Given the description of an element on the screen output the (x, y) to click on. 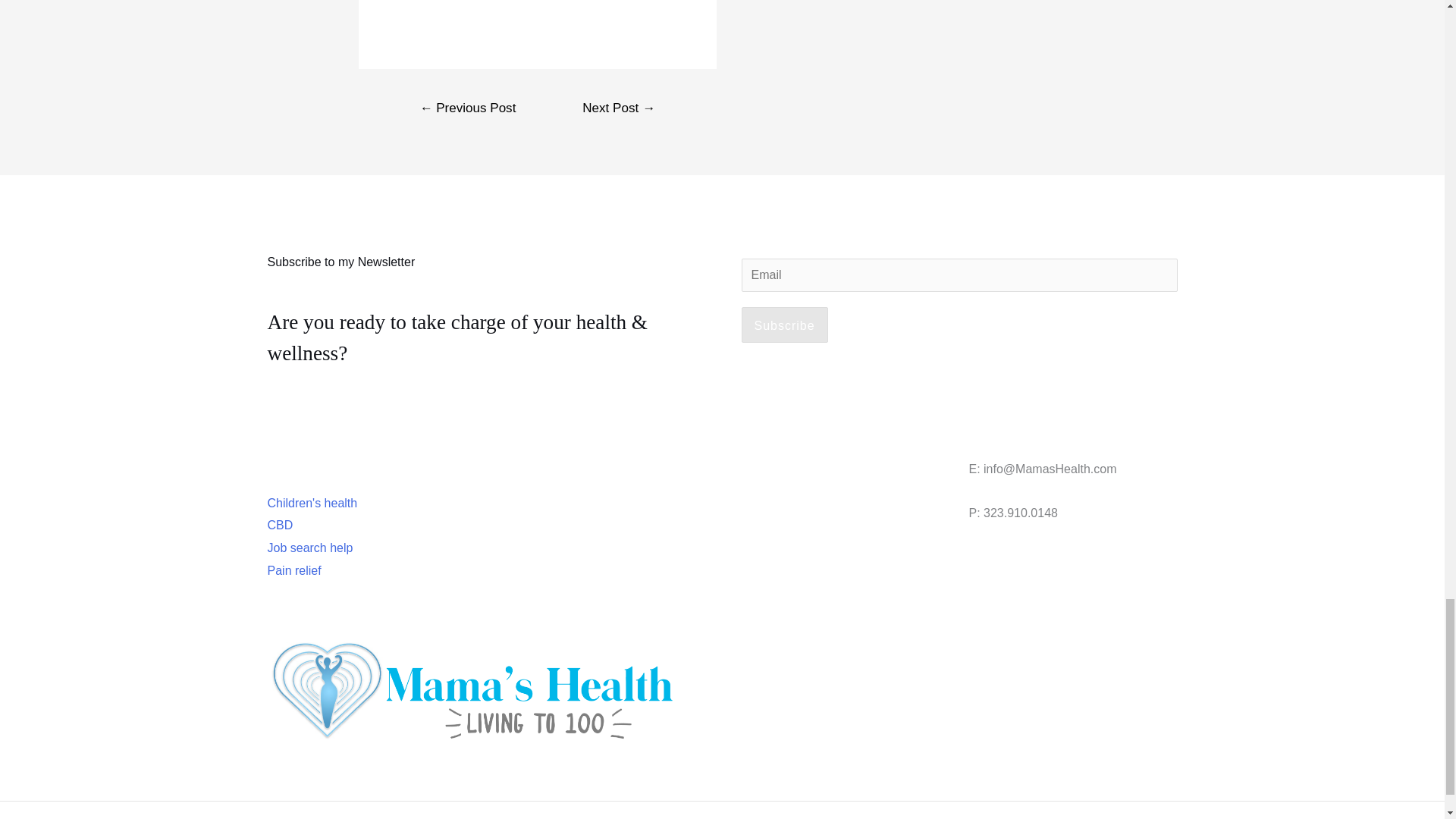
Subscribe (784, 325)
CBD (279, 524)
Children's health (311, 502)
Job search help (309, 547)
Pain relief (293, 570)
